Given the description of an element on the screen output the (x, y) to click on. 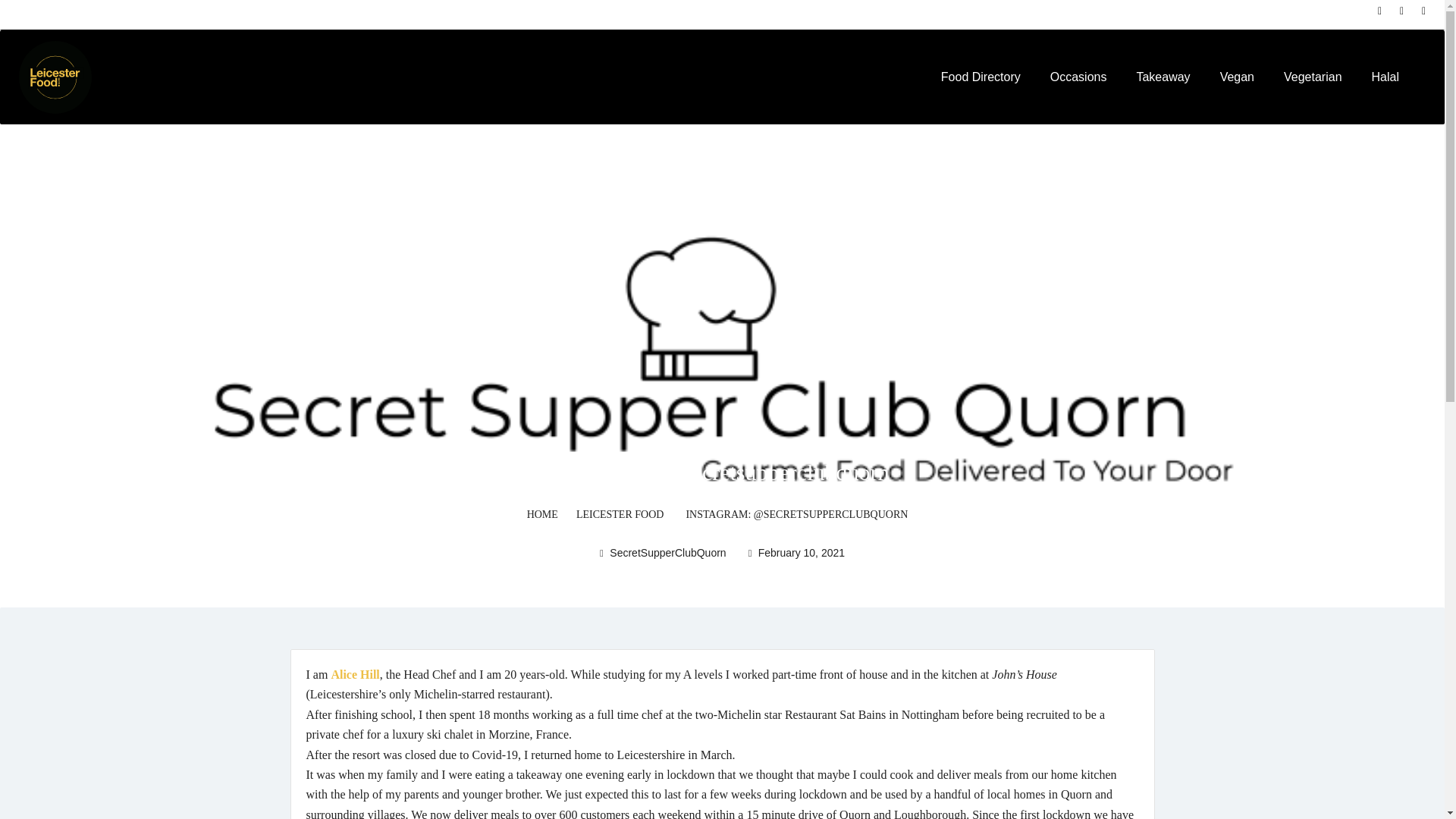
Vegan (1236, 76)
Occasions (1077, 76)
Takeaway (1162, 76)
Food Directory (980, 76)
Vegetarian (1313, 76)
